Given the description of an element on the screen output the (x, y) to click on. 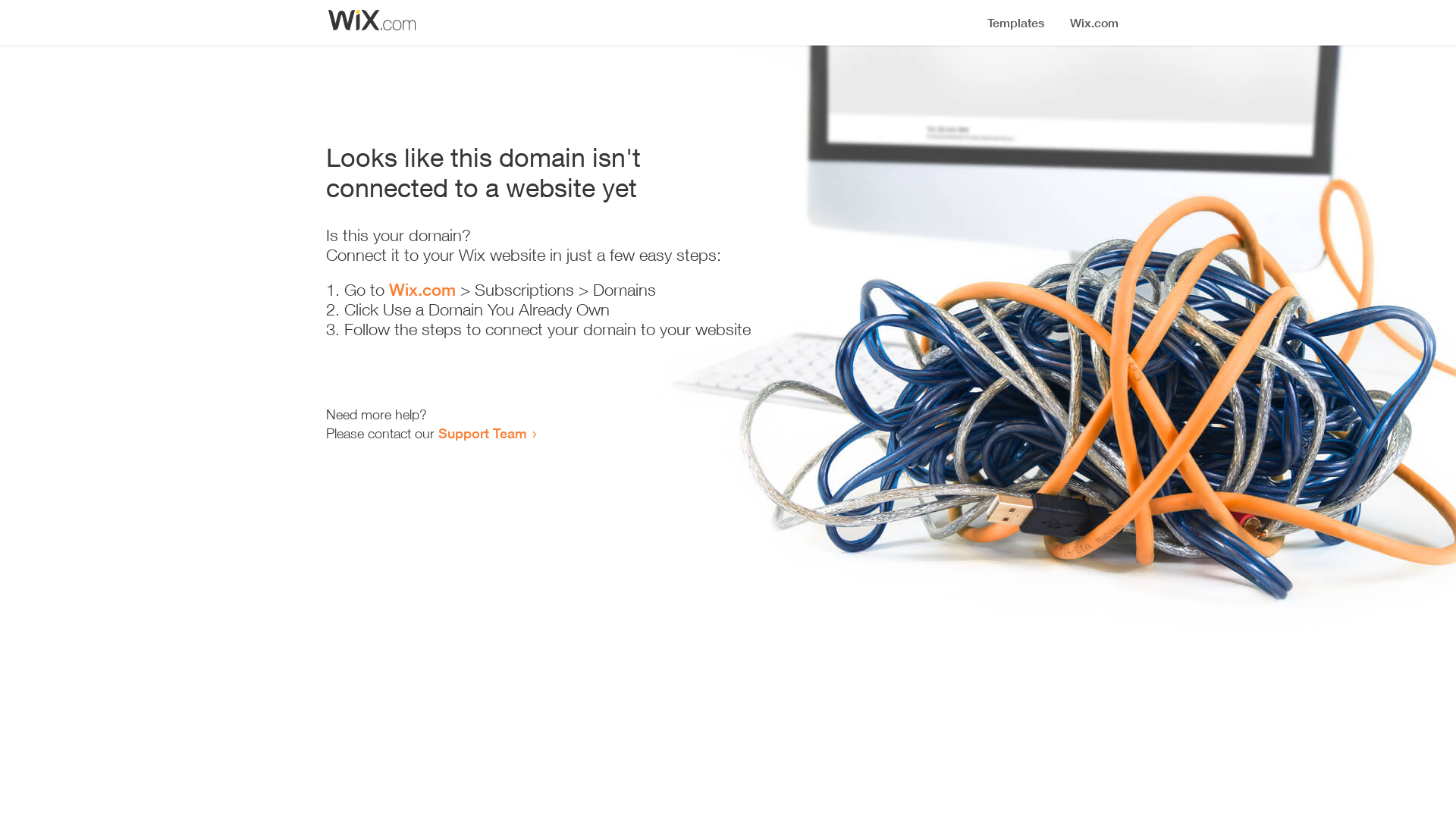
Wix.com Element type: text (422, 289)
Support Team Element type: text (482, 432)
